Given the description of an element on the screen output the (x, y) to click on. 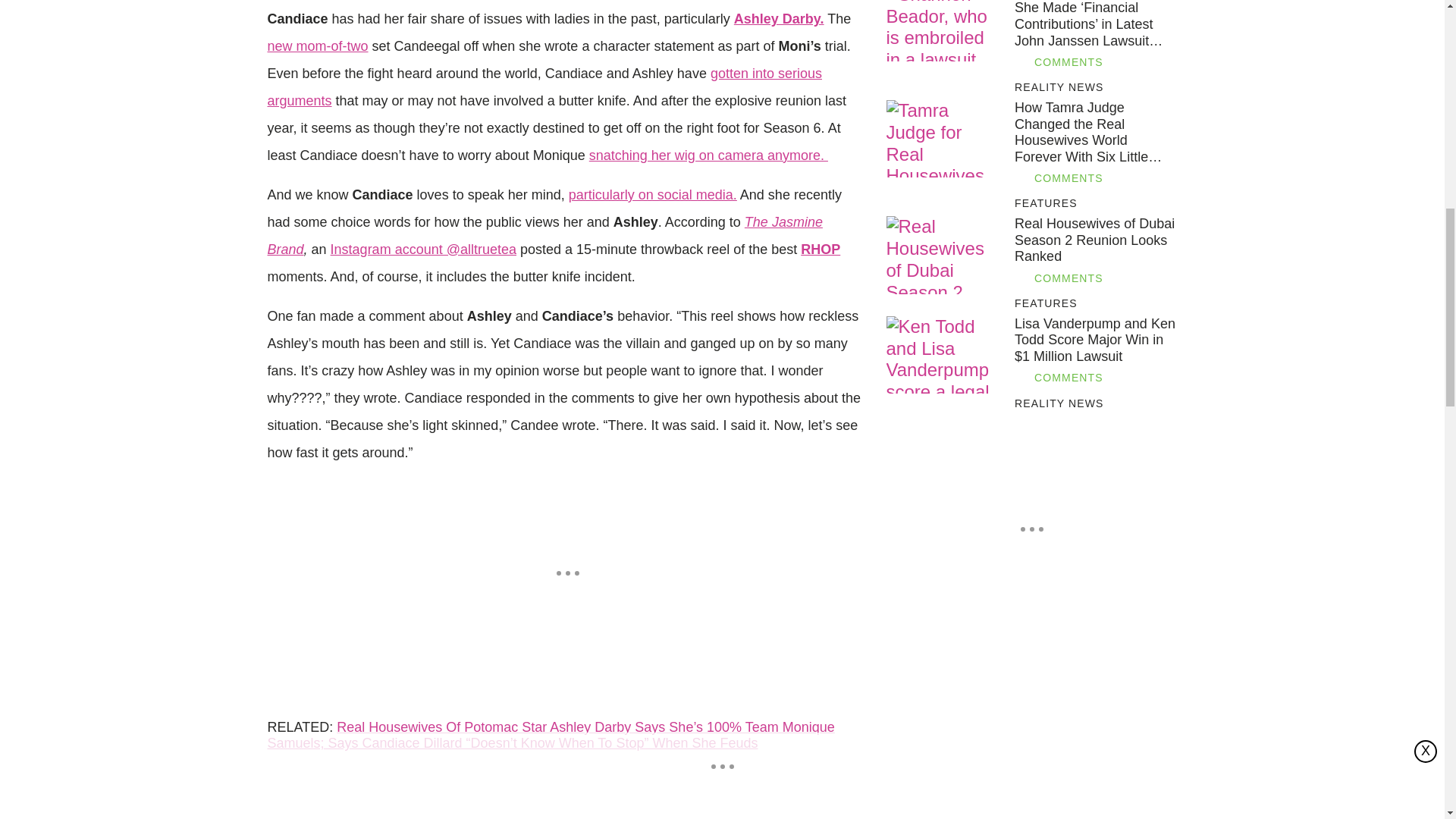
The Jasmine Brand (544, 235)
Ashley Darby. (778, 18)
particularly on social media. (652, 194)
Real Housewives of Dubai Season 2 Reunion Looks Ranked (944, 254)
new mom-of-two (317, 46)
gotten into serious arguments (544, 87)
Real Housewives of Dubai Season 2 Reunion Looks Ranked (1095, 240)
snatching her wig on camera anymore.  (708, 155)
